Given the description of an element on the screen output the (x, y) to click on. 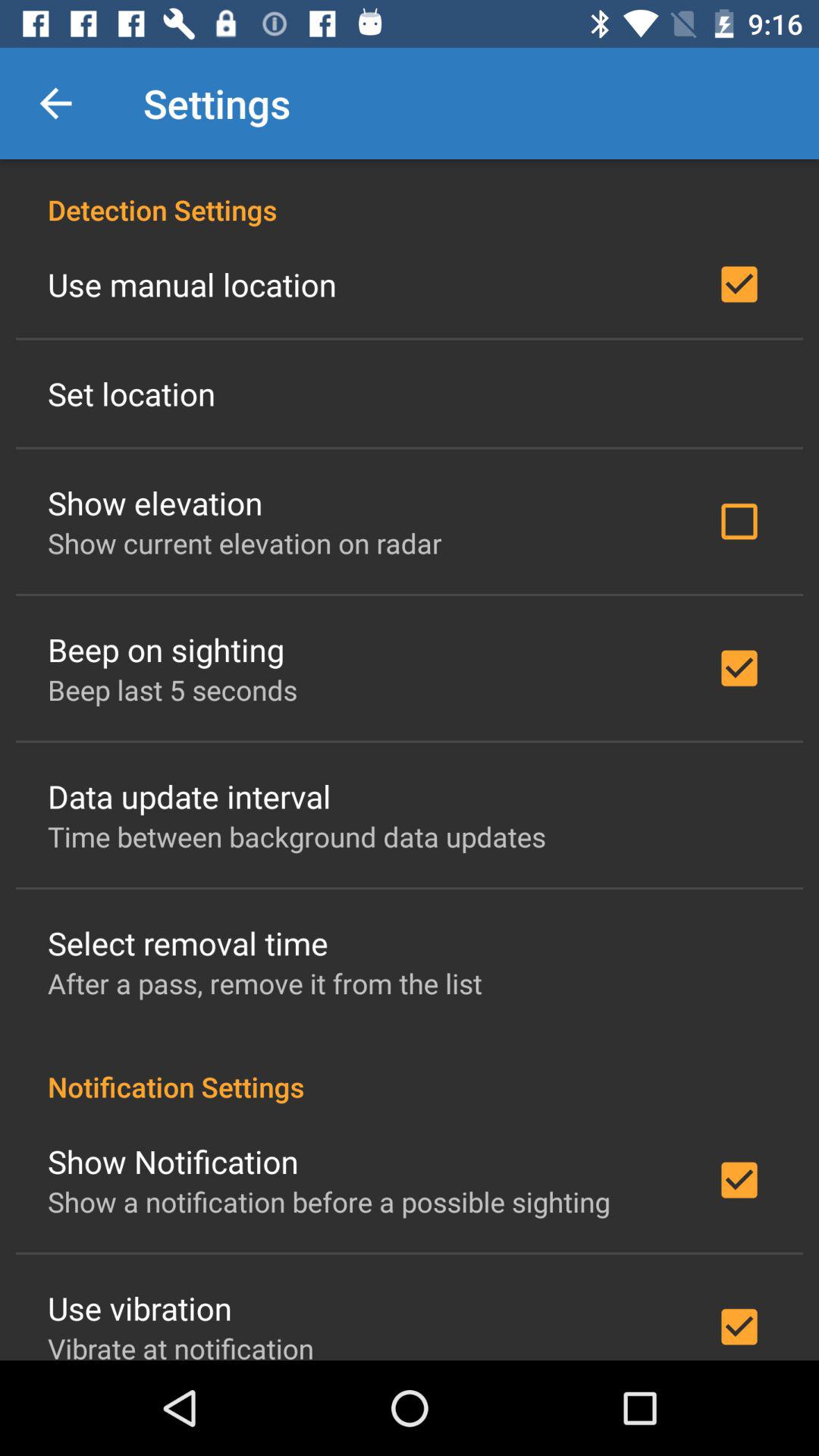
tap item to the left of the settings icon (55, 103)
